Given the description of an element on the screen output the (x, y) to click on. 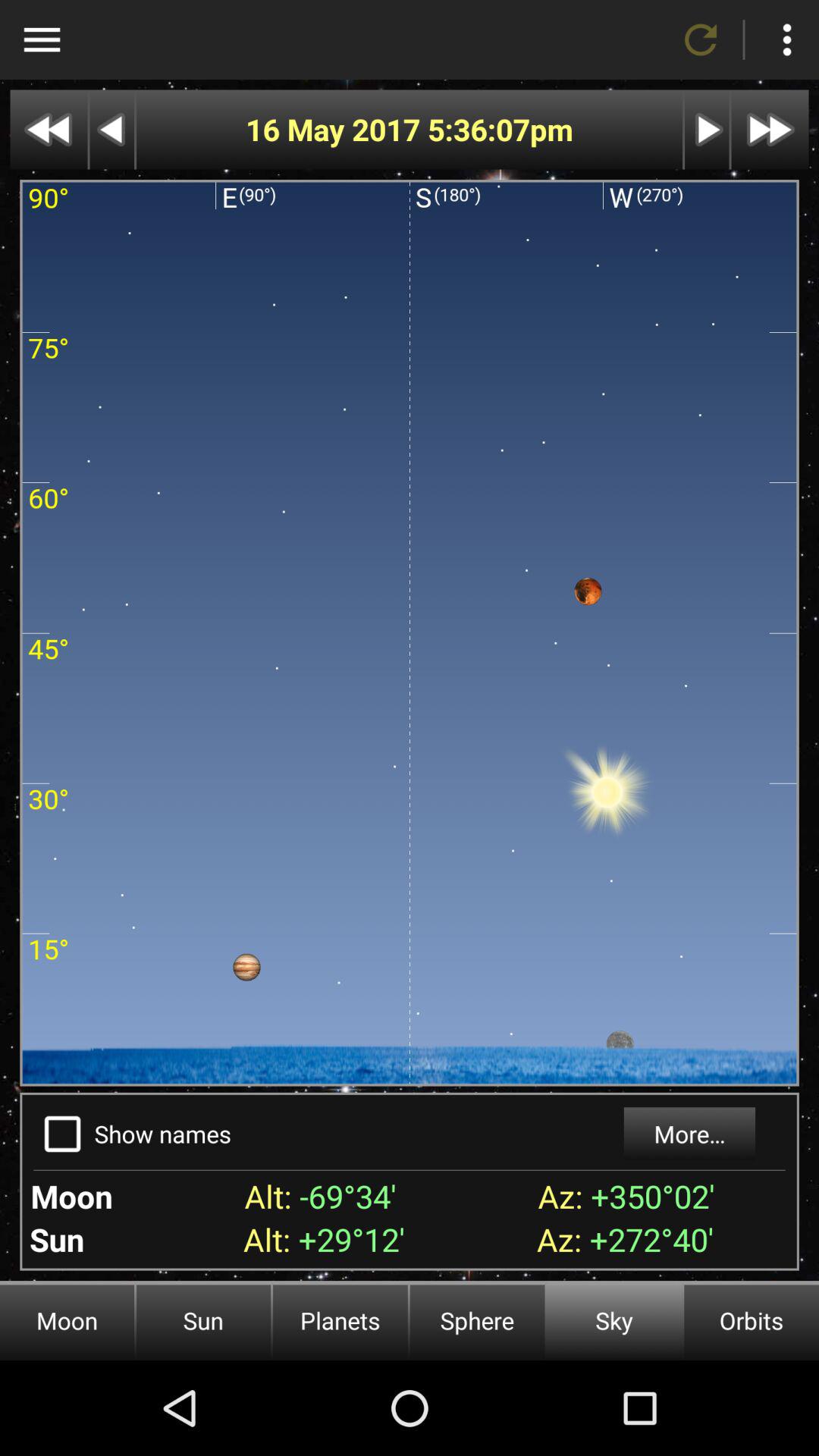
more options (787, 39)
